Given the description of an element on the screen output the (x, y) to click on. 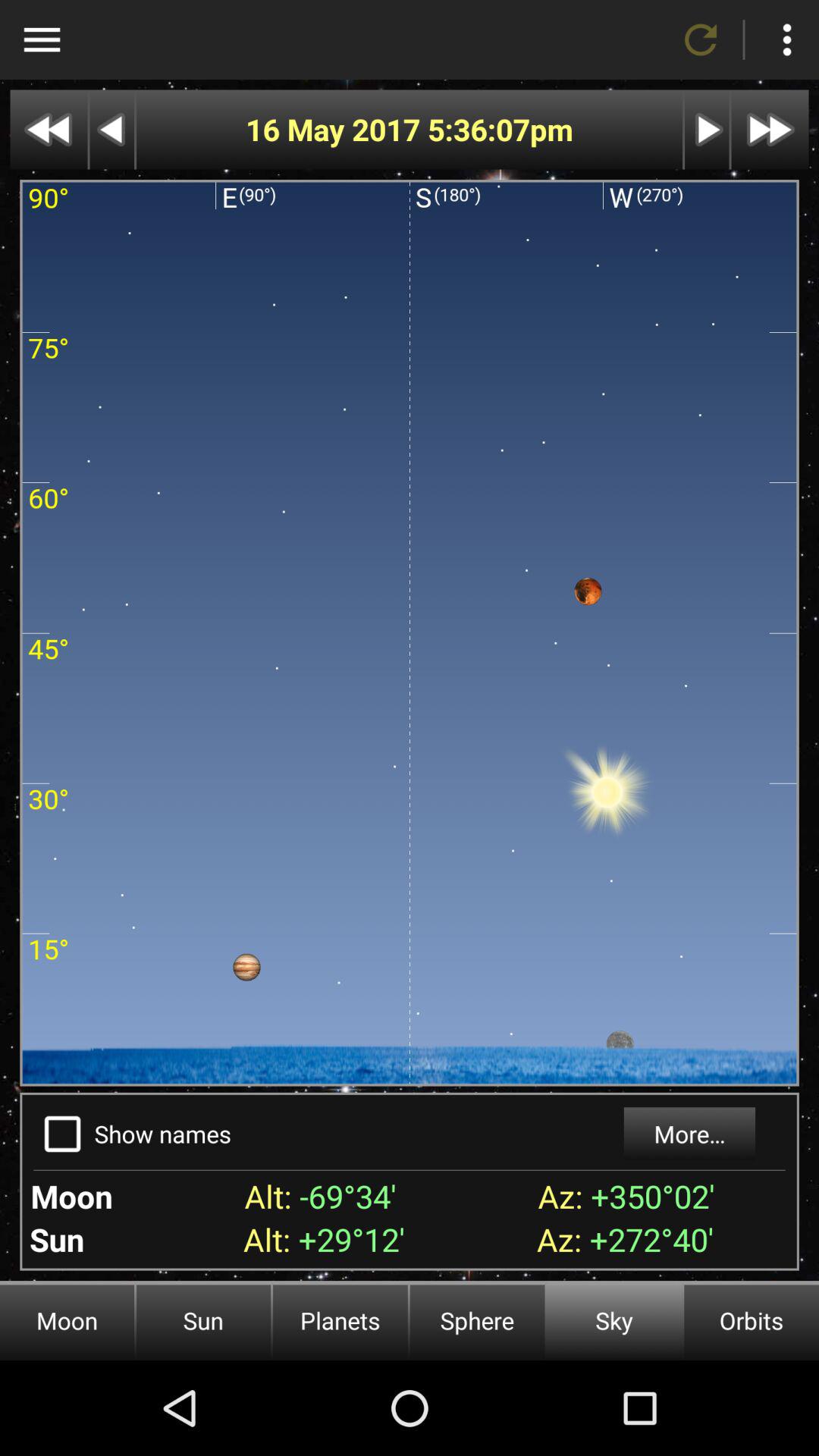
more options (787, 39)
